Given the description of an element on the screen output the (x, y) to click on. 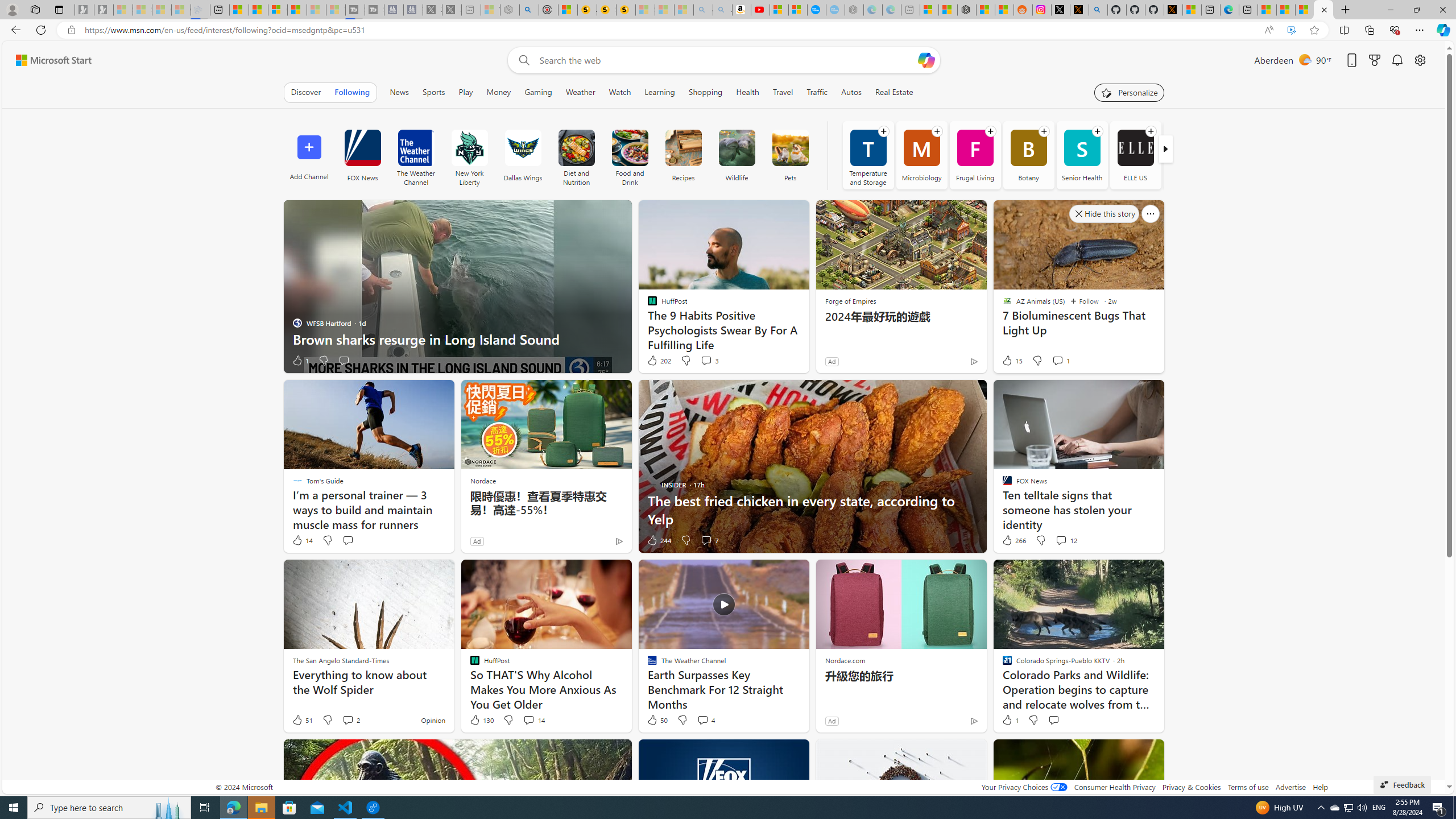
15 Like (1010, 360)
Sports (433, 92)
1 Like (1009, 719)
14 Like (301, 539)
Shopping (705, 92)
Autos (850, 92)
SB Nation (1188, 155)
Play (465, 92)
